Given the description of an element on the screen output the (x, y) to click on. 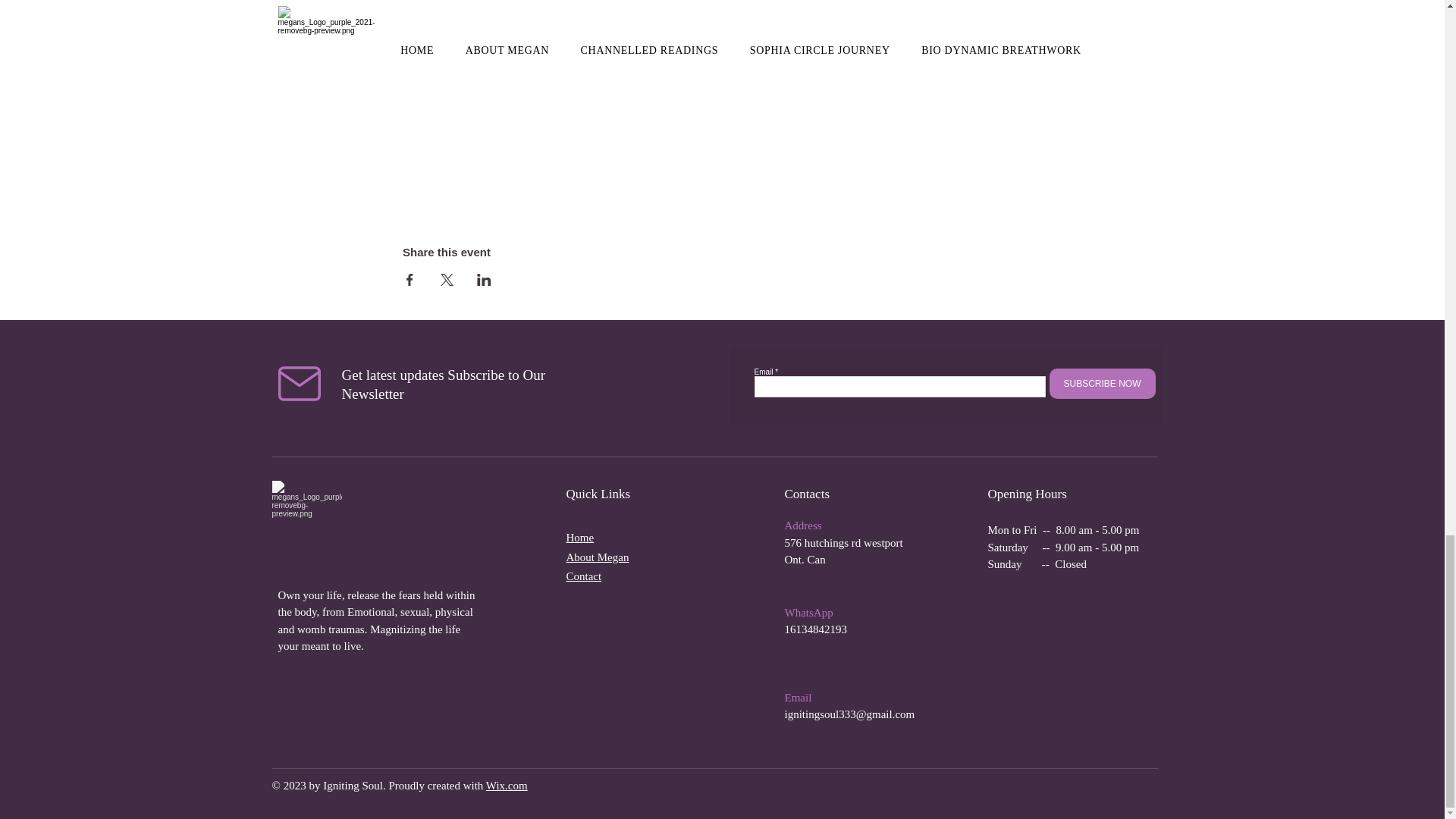
Home (580, 537)
About Megan (597, 557)
SUBSCRIBE NOW (1102, 383)
Contact (583, 576)
Wix.com (506, 785)
